Given the description of an element on the screen output the (x, y) to click on. 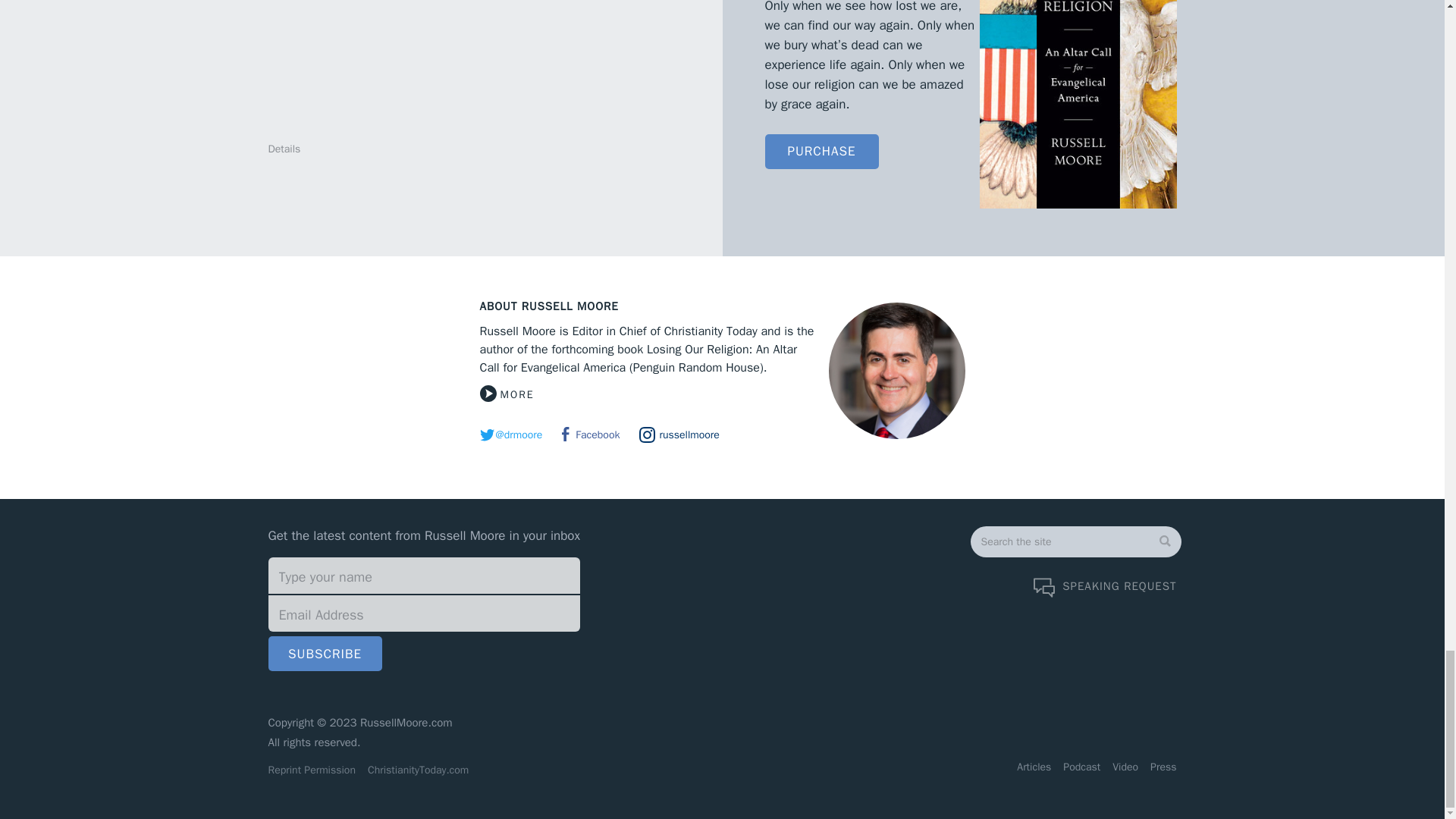
Facebook (591, 434)
Reprint Permission (311, 770)
Podcast (1081, 766)
russellmoore (679, 434)
SEARCH (1027, 574)
SUBSCRIBE (324, 653)
Details (284, 148)
MORE (506, 393)
PURCHASE (820, 151)
Articles (1033, 766)
ChristianityToday.com (417, 770)
SPEAKING REQUEST (1104, 587)
